Given the description of an element on the screen output the (x, y) to click on. 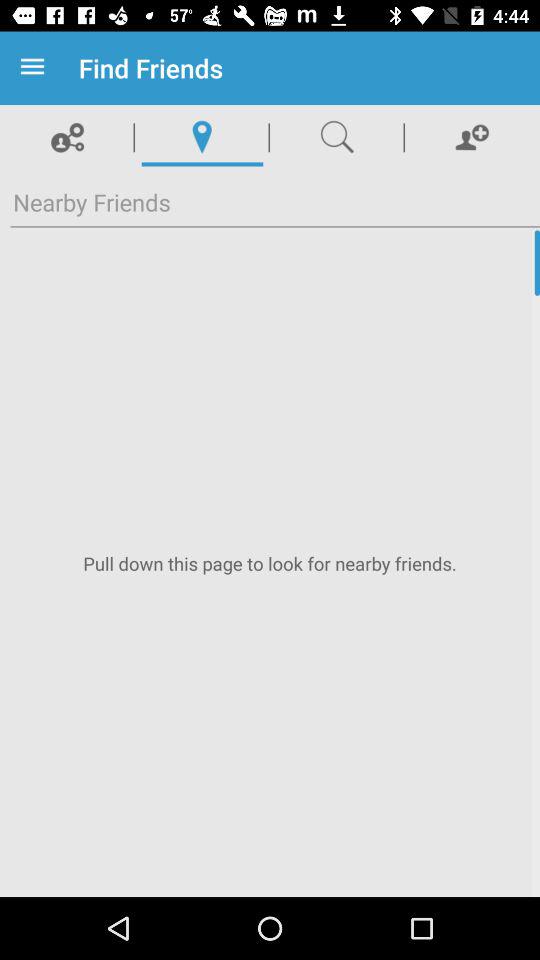
nearby friends list (270, 563)
